Given the description of an element on the screen output the (x, y) to click on. 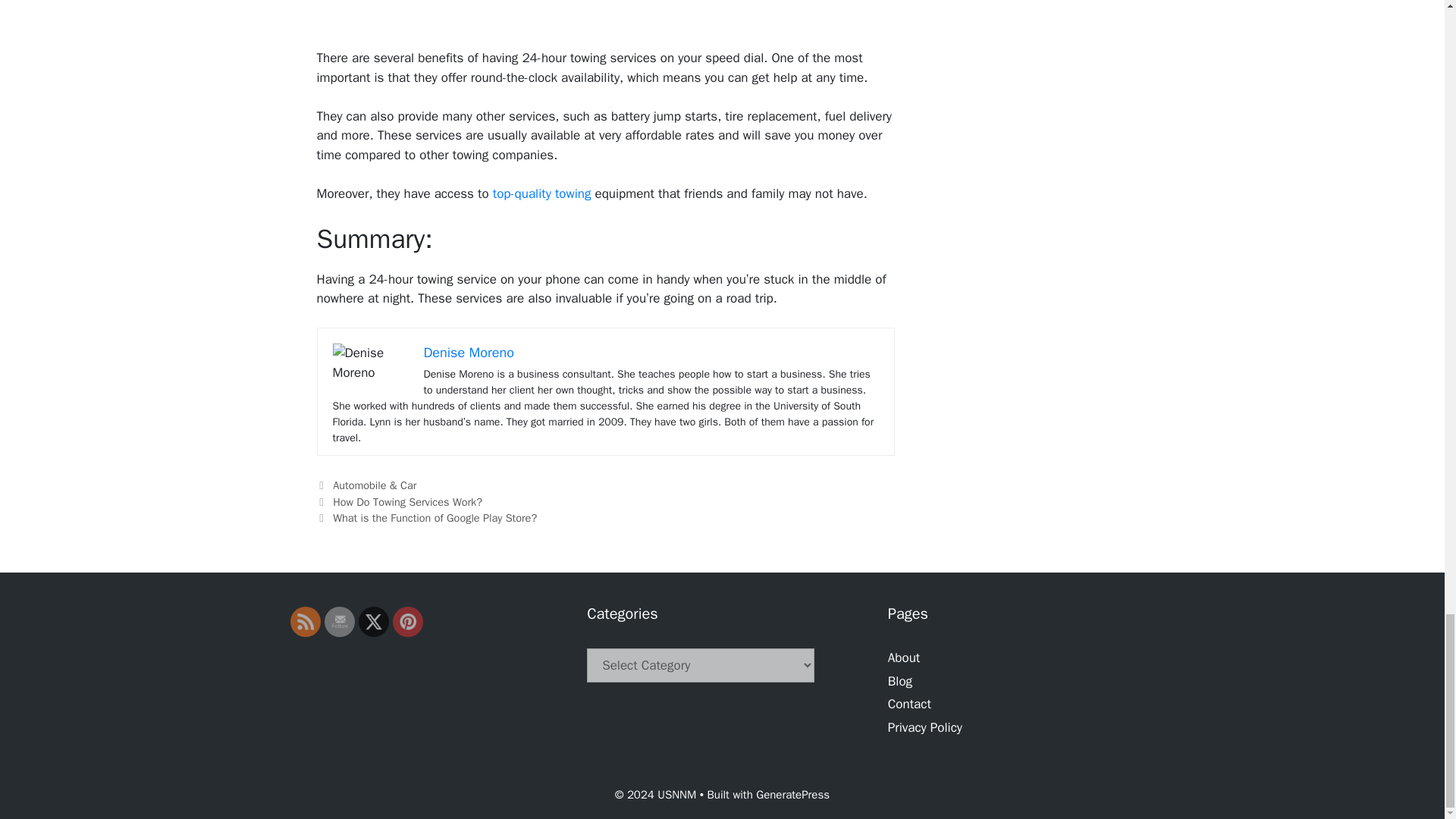
How Do Towing Services Work? (407, 501)
Twitter (373, 621)
Contact (909, 703)
Privacy Policy (925, 727)
Pinterest (406, 621)
Follow by Email (338, 621)
RSS (305, 621)
What is the Function of Google Play Store? (435, 517)
Denise Moreno (468, 352)
top-quality towing (544, 193)
